Given the description of an element on the screen output the (x, y) to click on. 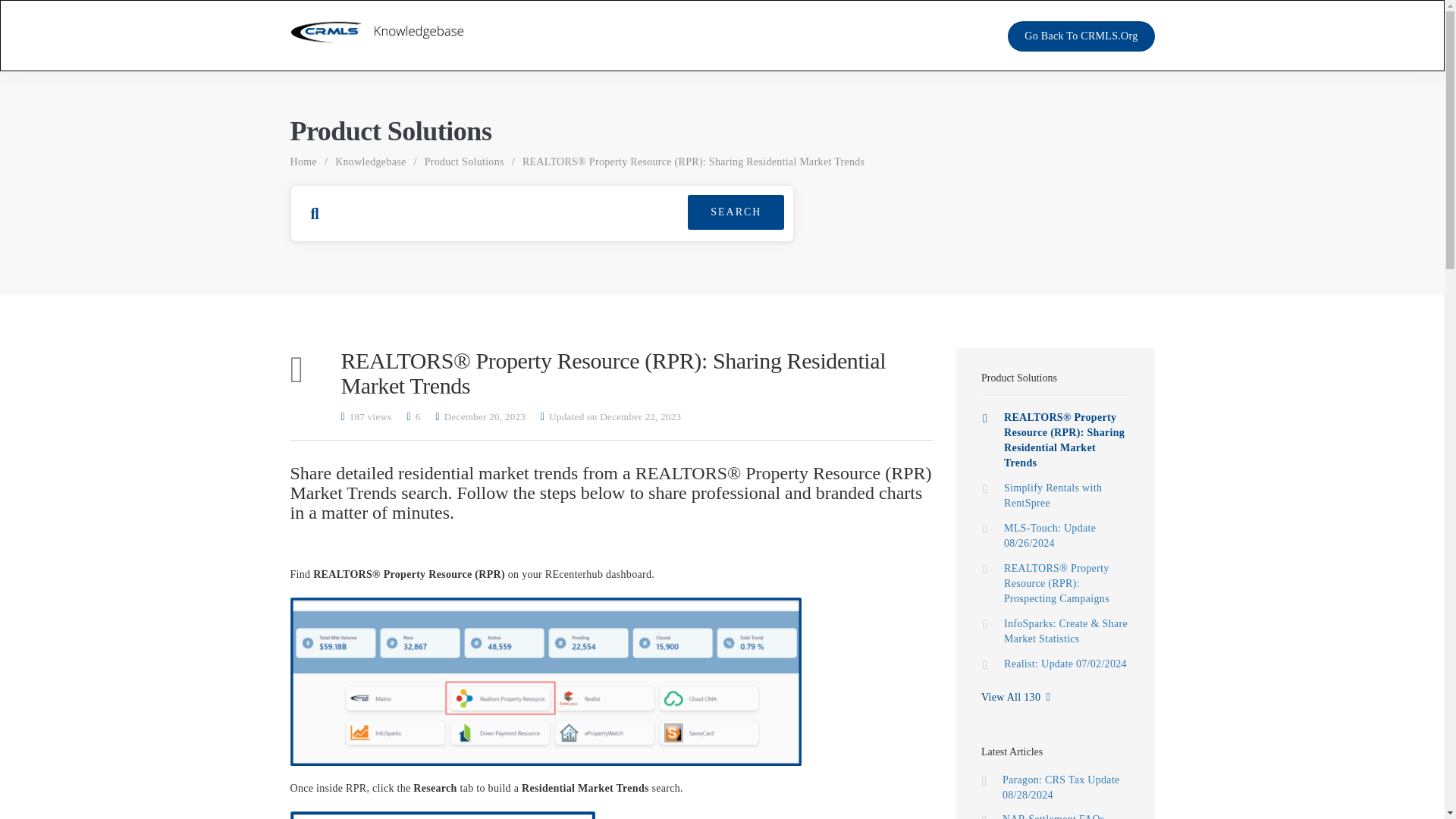
Product Solutions (464, 161)
Product Solutions (1019, 378)
Home (302, 161)
Search (735, 212)
View All 130   (1015, 697)
Go Back To CRMLS.Org (1080, 36)
Simplify Rentals with RentSpree (1055, 495)
Search (735, 212)
Knowledgebase (370, 161)
NAR Settlement FAQs (1054, 816)
